Given the description of an element on the screen output the (x, y) to click on. 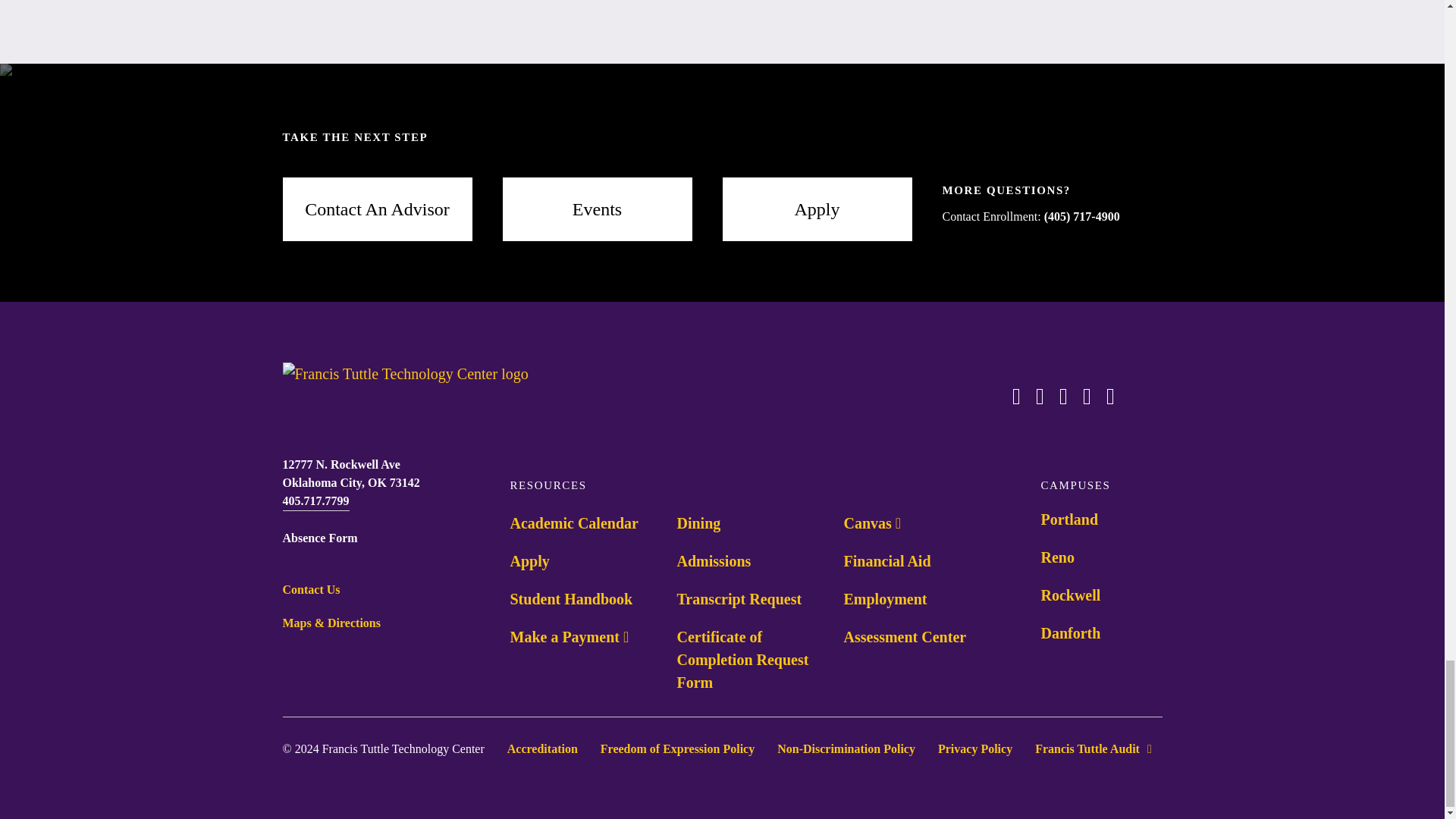
Absence Form (319, 537)
